Given the description of an element on the screen output the (x, y) to click on. 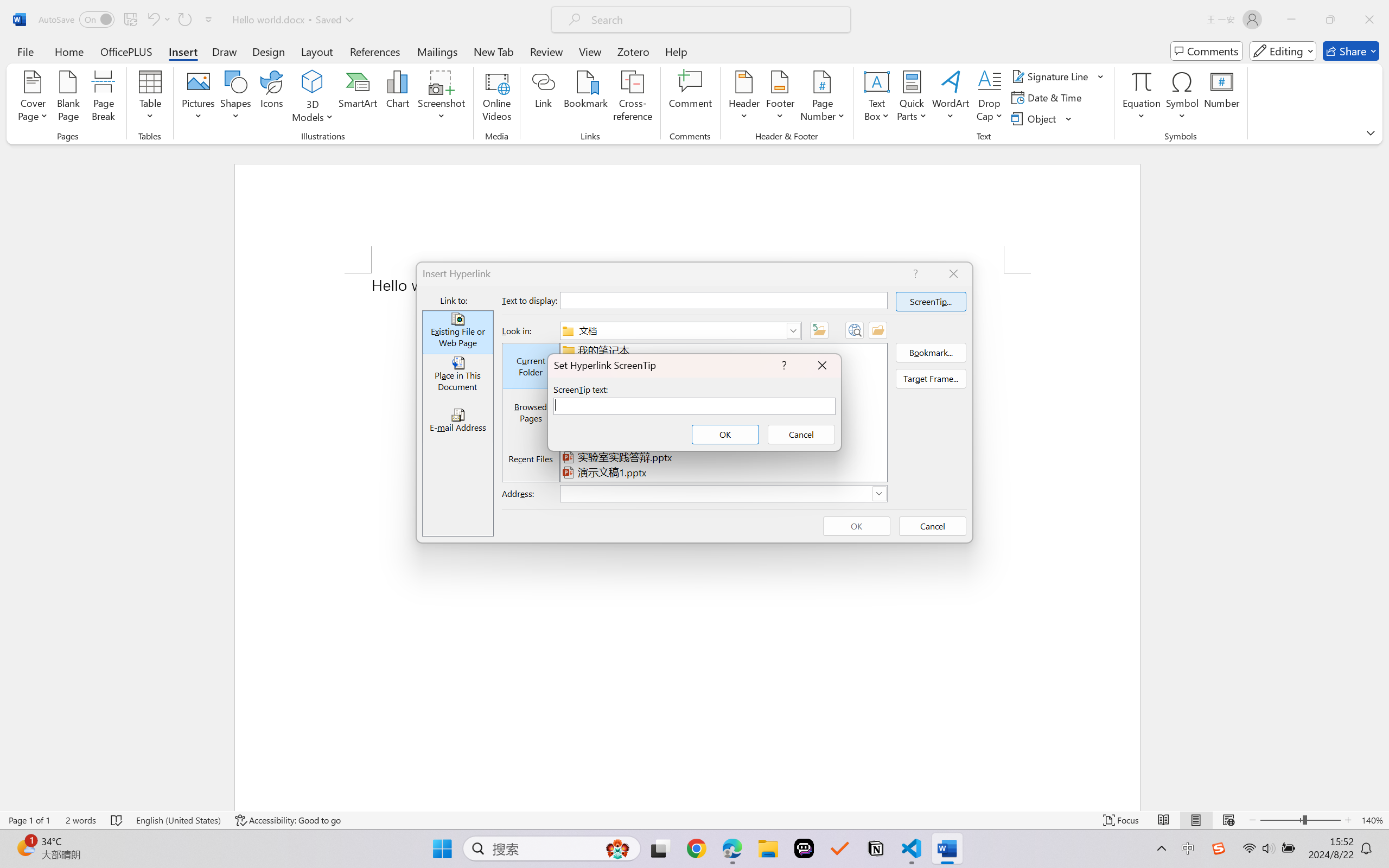
3D Models (312, 81)
Footer (780, 97)
OK (725, 434)
Zoom (1300, 819)
New Tab (493, 51)
Zoom 140% (1372, 819)
Shapes (235, 97)
AutomationID: BadgeAnchorLargeTicker (24, 847)
Screenshot (441, 97)
Browse the Web (853, 330)
Look in: (680, 331)
Page Number Page 1 of 1 (29, 819)
Web Layout (1228, 819)
Icons (271, 97)
